Given the description of an element on the screen output the (x, y) to click on. 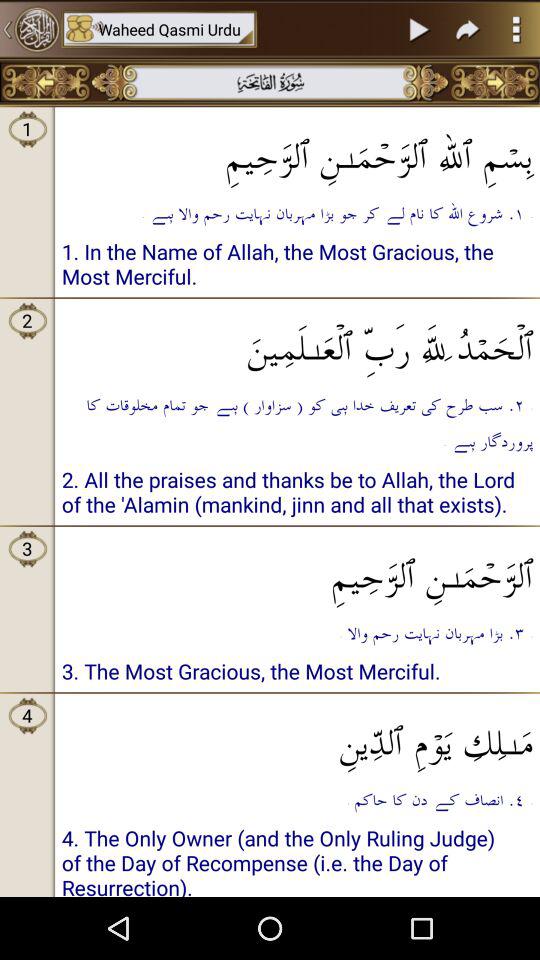
click the item to the right of 3 (297, 569)
